Given the description of an element on the screen output the (x, y) to click on. 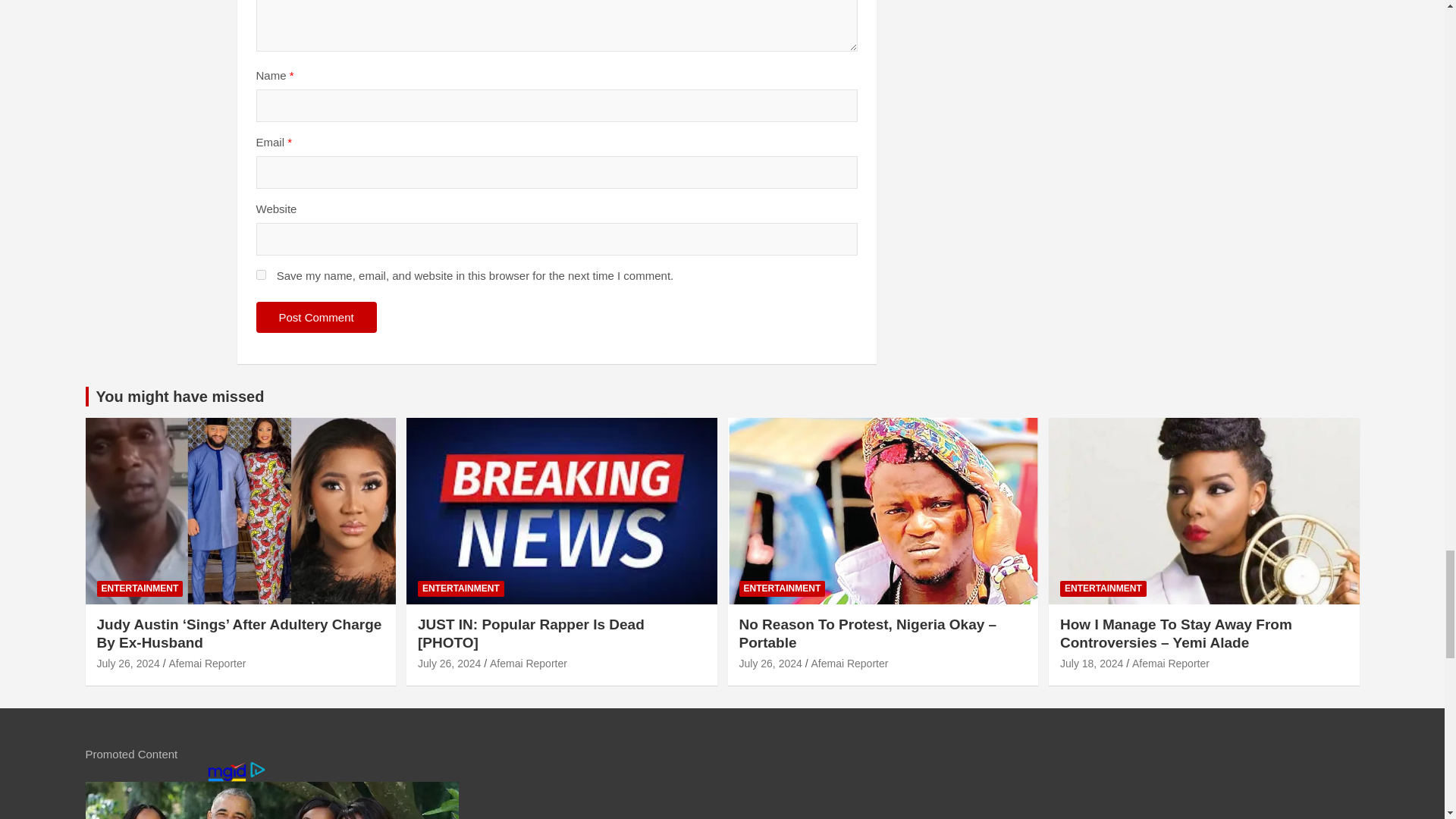
Post Comment (316, 317)
yes (261, 275)
